Given the description of an element on the screen output the (x, y) to click on. 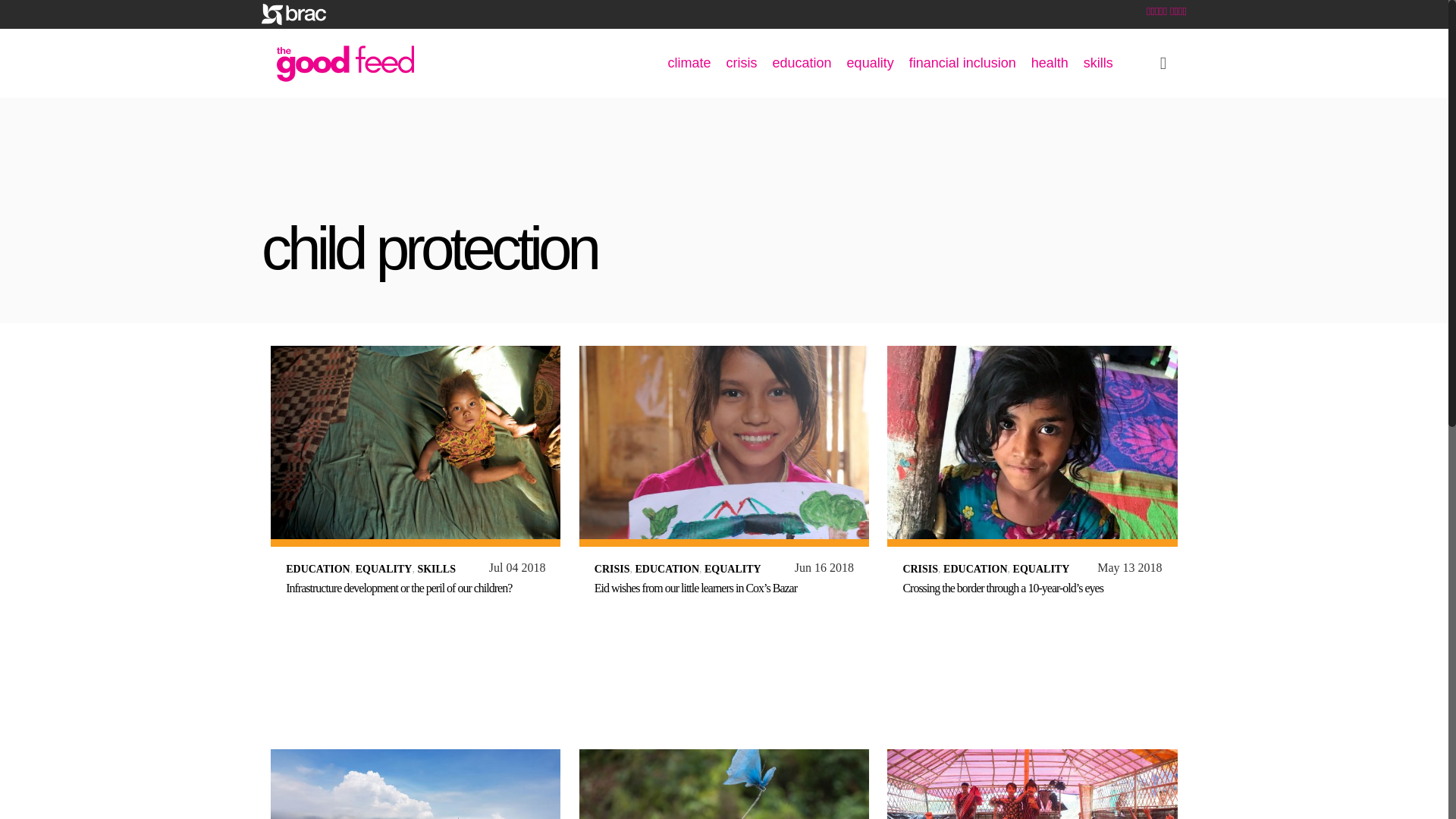
CRISIS (612, 568)
SKILLS (435, 568)
EDUCATION (666, 568)
EDUCATION (317, 568)
EQUALITY (732, 568)
equality (870, 62)
financial inclusion (962, 62)
EQUALITY (383, 568)
Infrastructure development or the peril of our children? (398, 587)
The Good Feed (344, 62)
education (802, 62)
